Given the description of an element on the screen output the (x, y) to click on. 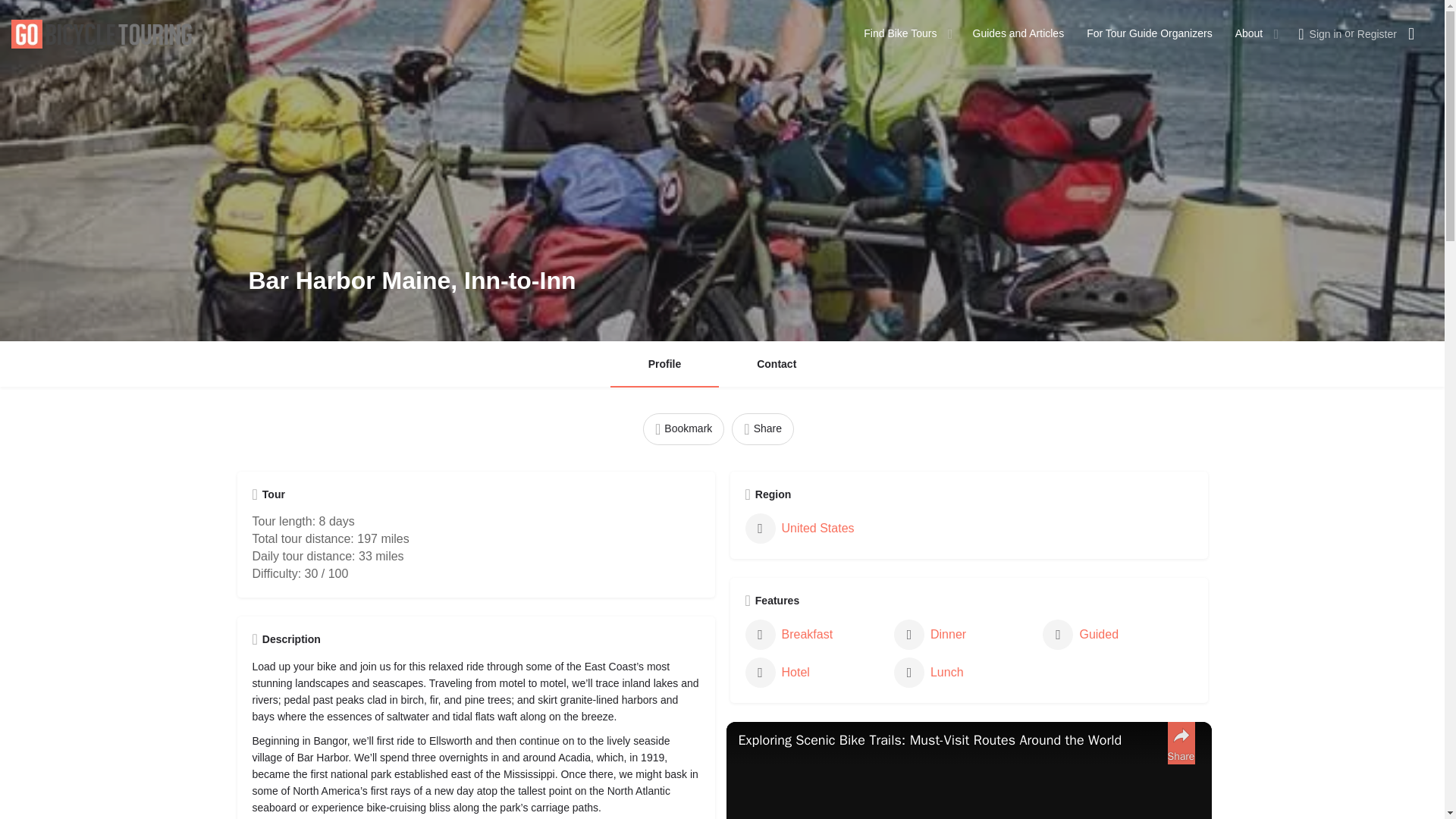
Breakfast (814, 634)
For Tour Guide Organizers (1148, 32)
Share (762, 429)
Lunch (964, 672)
Sign in (1325, 33)
Guides and Articles (1018, 32)
Guided (1112, 634)
Dinner (964, 634)
United States (814, 528)
Contact (776, 364)
Register (1376, 33)
About (1248, 32)
Bookmark (683, 429)
Profile (664, 364)
Hotel (814, 672)
